Given the description of an element on the screen output the (x, y) to click on. 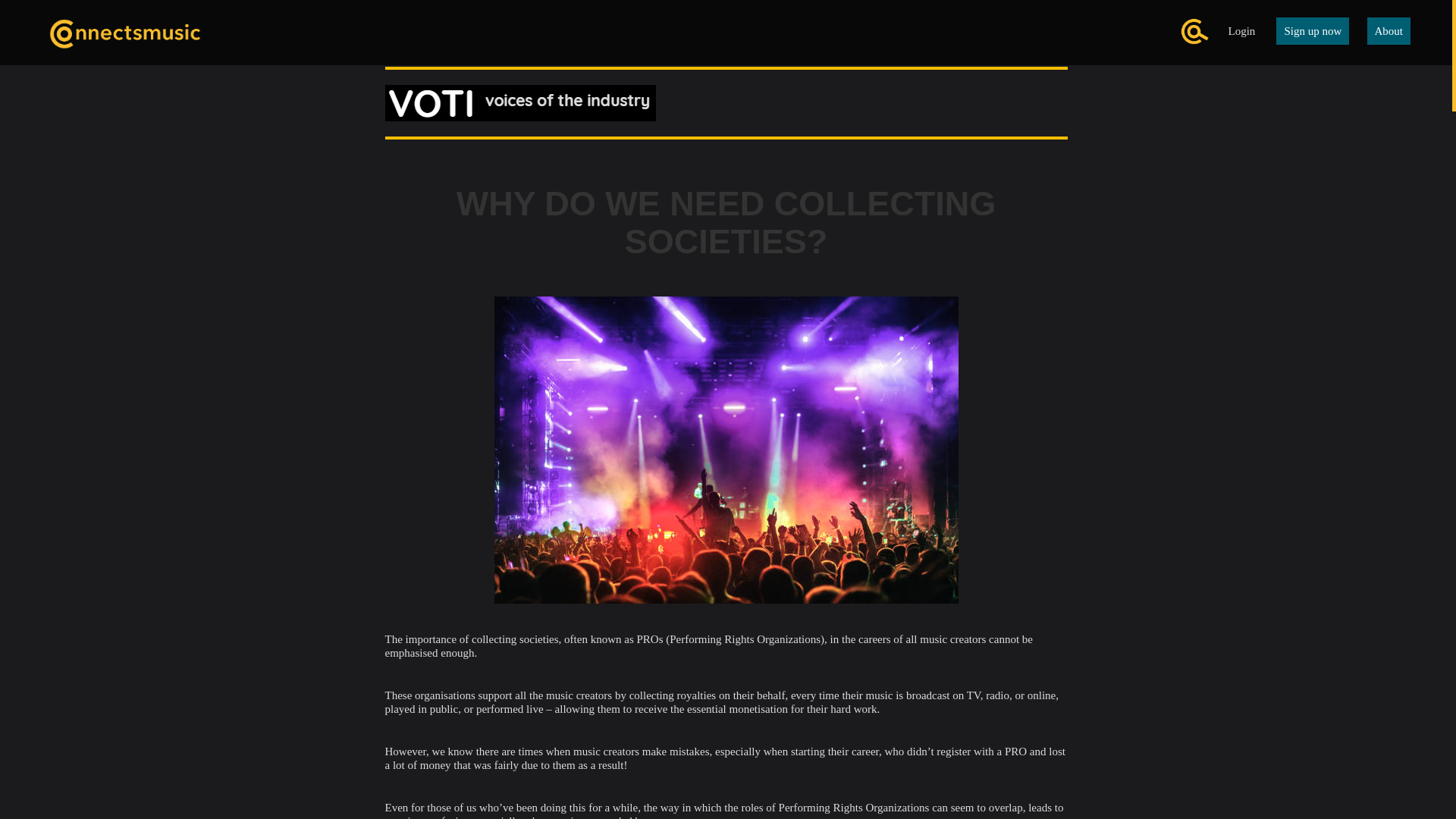
SIGN UP (726, 418)
About (1388, 31)
START CREATING CONNECTS PAGE (726, 189)
Sign up now (1312, 31)
Login (1241, 30)
